Given the description of an element on the screen output the (x, y) to click on. 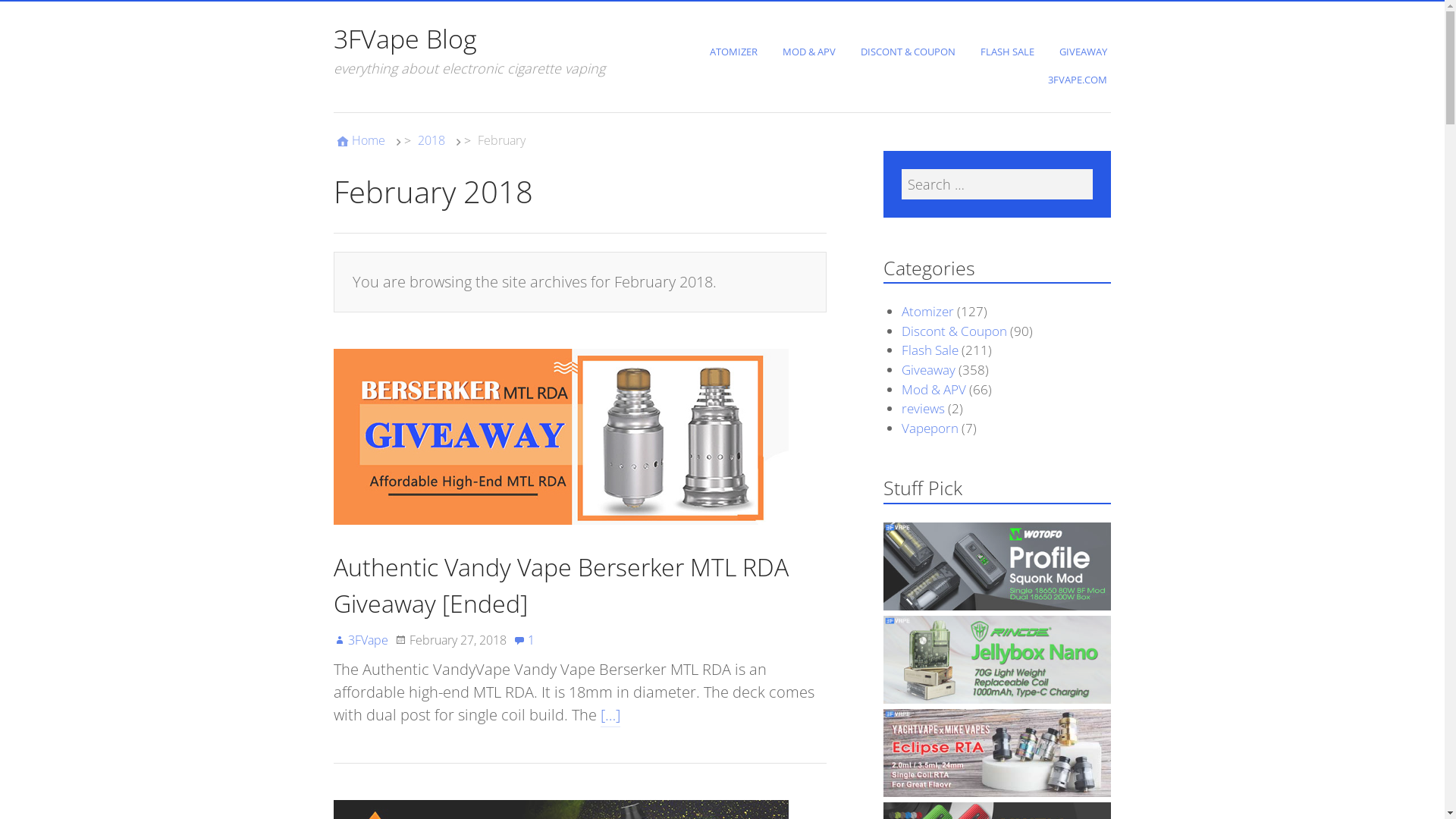
reviews Element type: text (922, 408)
Discont & Coupon Element type: text (954, 330)
3FVape Blog Element type: text (404, 38)
GIVEAWAY Element type: text (1084, 51)
Flash Sale Element type: text (929, 349)
Atomizer Element type: text (927, 311)
Authentic Vandy Vape Berserker MTL RDA Giveaway [Ended] Element type: hover (560, 537)
Home Element type: text (359, 140)
2018 Element type: text (431, 140)
Vapeporn Element type: text (929, 427)
MOD & APV Element type: text (810, 51)
3FVape Element type: text (360, 639)
1 Element type: text (523, 639)
FLASH SALE Element type: text (1009, 51)
Search for: Element type: hover (996, 184)
Authentic Vandy Vape Berserker MTL RDA Giveaway [Ended] Element type: text (560, 584)
Search Element type: text (29, 16)
Giveaway Element type: text (928, 369)
DISCONT & COUPON Element type: text (909, 51)
3FVAPE.COM Element type: text (1079, 79)
Mod & APV Element type: text (933, 389)
ATOMIZER Element type: text (735, 51)
